Given the description of an element on the screen output the (x, y) to click on. 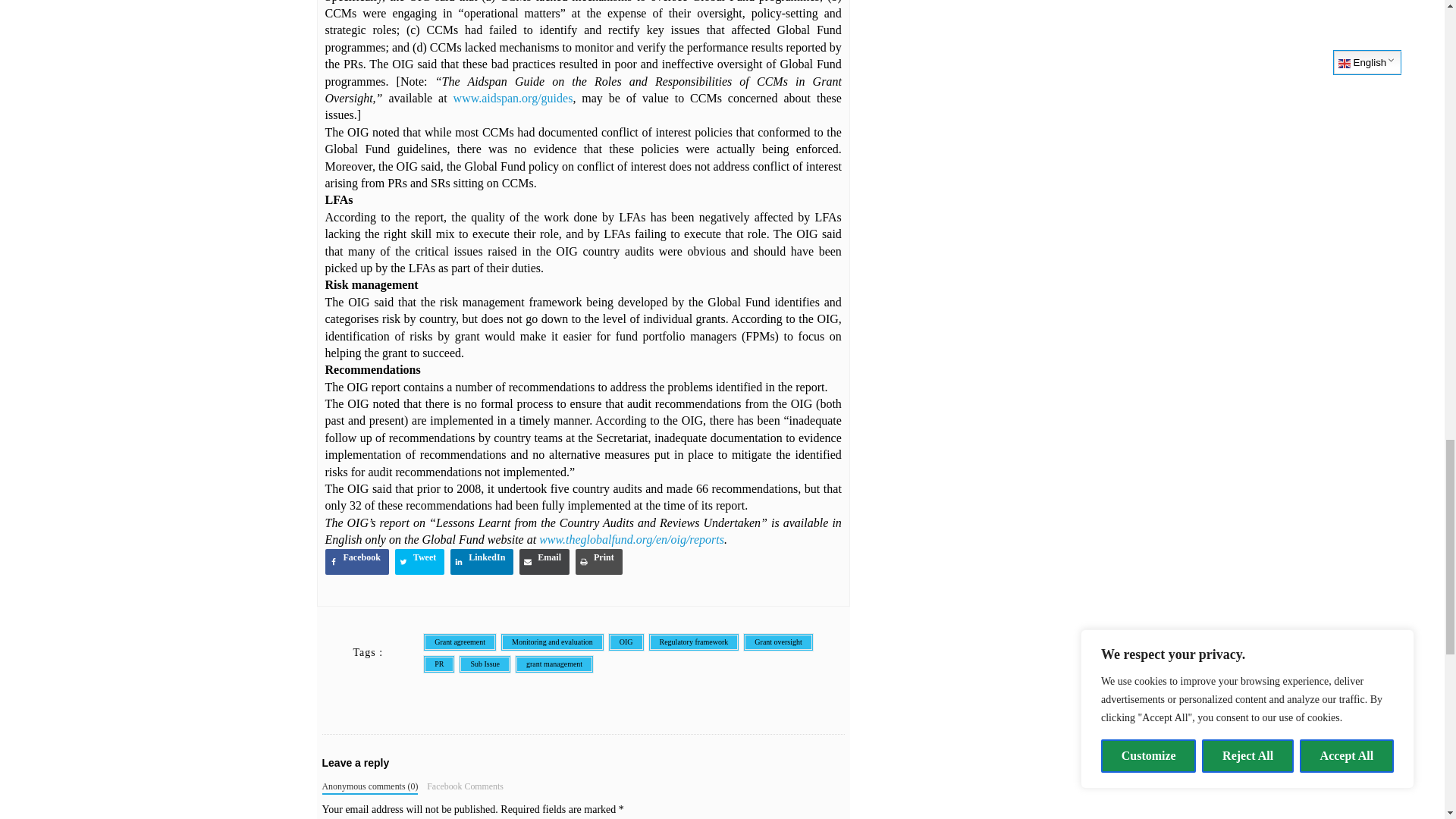
Share via Email (544, 561)
Email (544, 561)
Share on Twitter (419, 561)
Print this Page (599, 561)
Share on LinkedIn (481, 561)
Share on Facebook (356, 561)
